Given the description of an element on the screen output the (x, y) to click on. 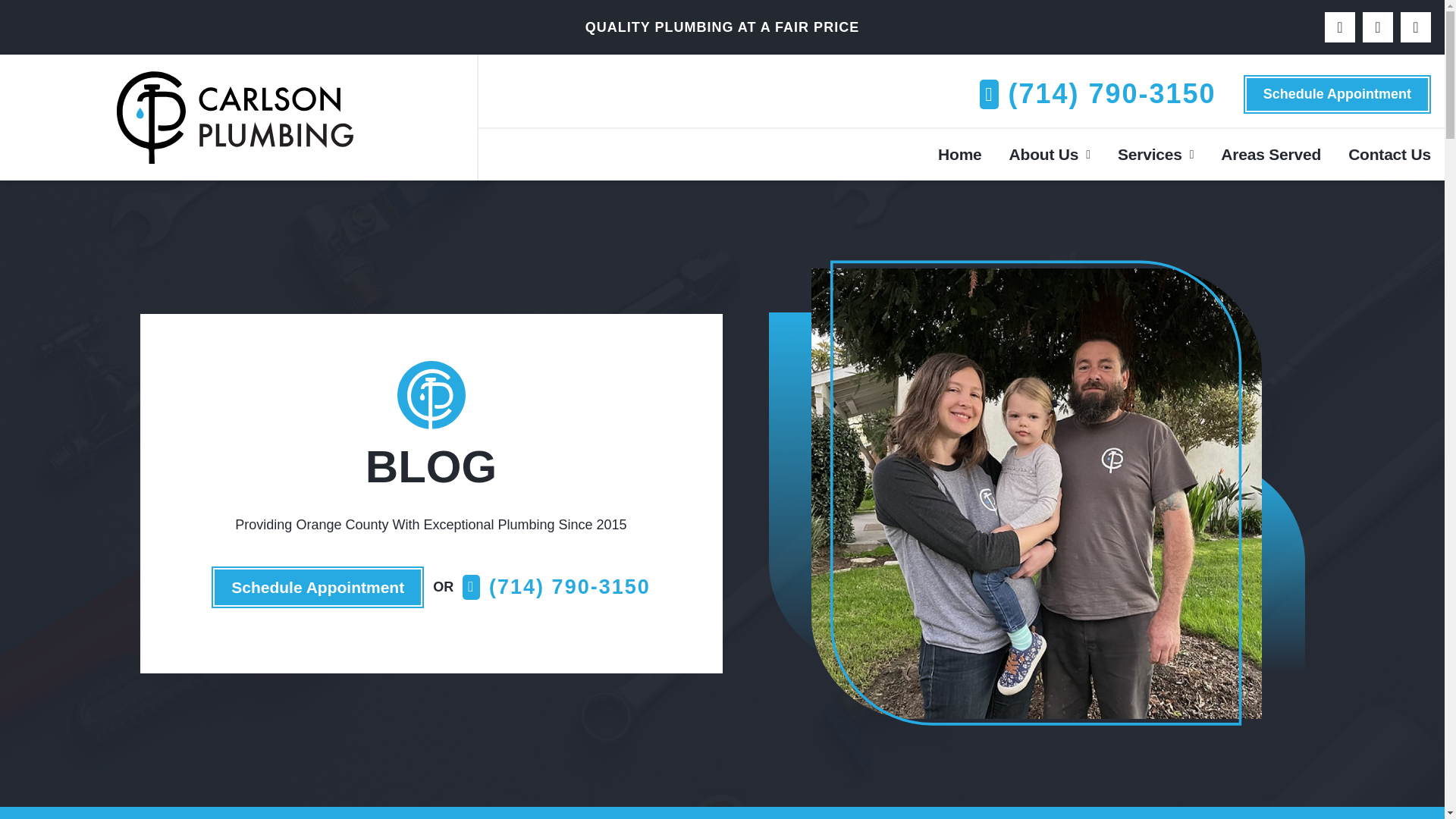
Home (959, 154)
Schedule Appointment (317, 587)
About Us (1049, 154)
Services (1155, 154)
Contact Us (1389, 154)
Areas Served (1270, 154)
Schedule Appointment (1337, 94)
